Given the description of an element on the screen output the (x, y) to click on. 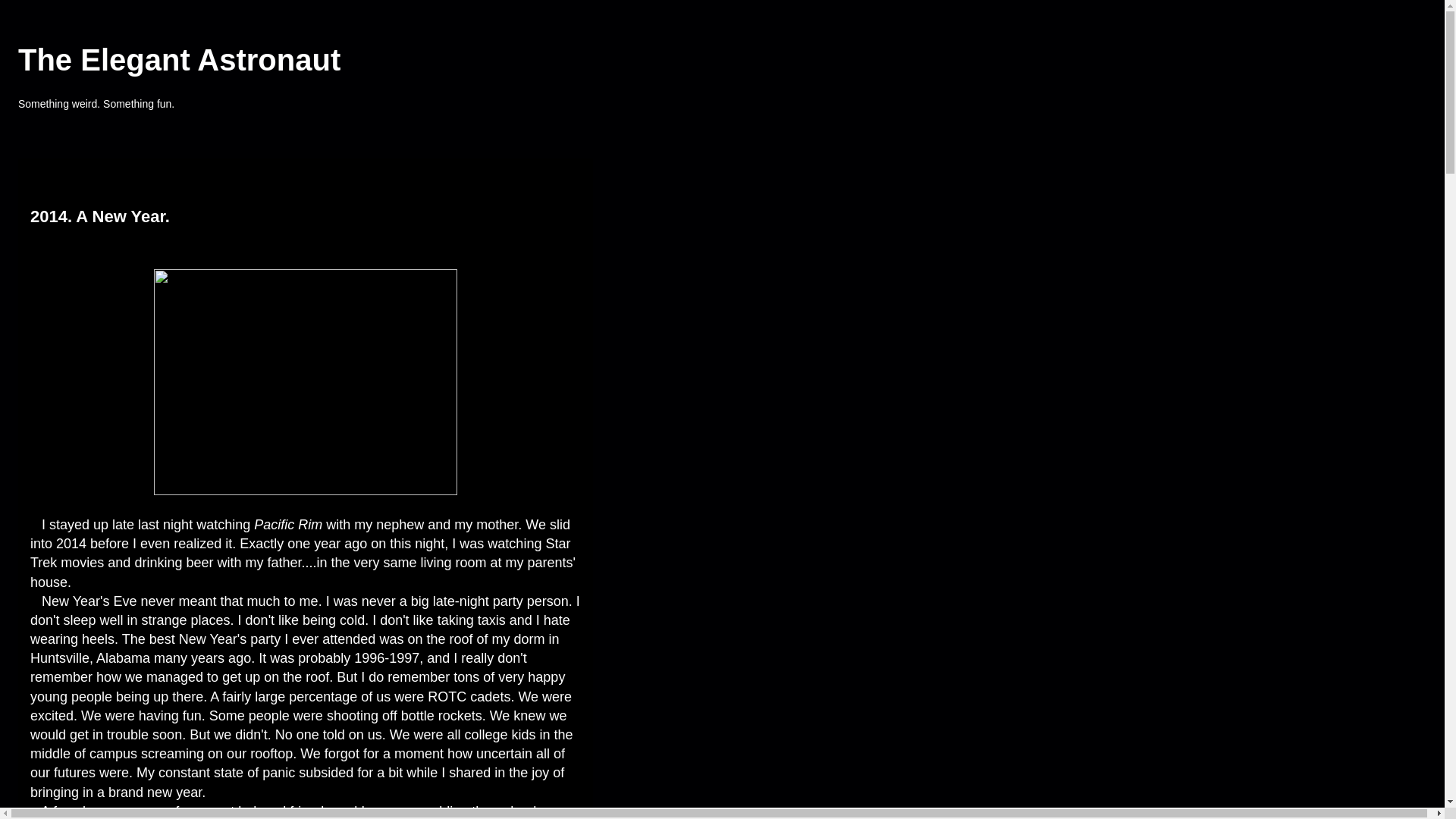
The Elegant Astronaut (178, 59)
